Given the description of an element on the screen output the (x, y) to click on. 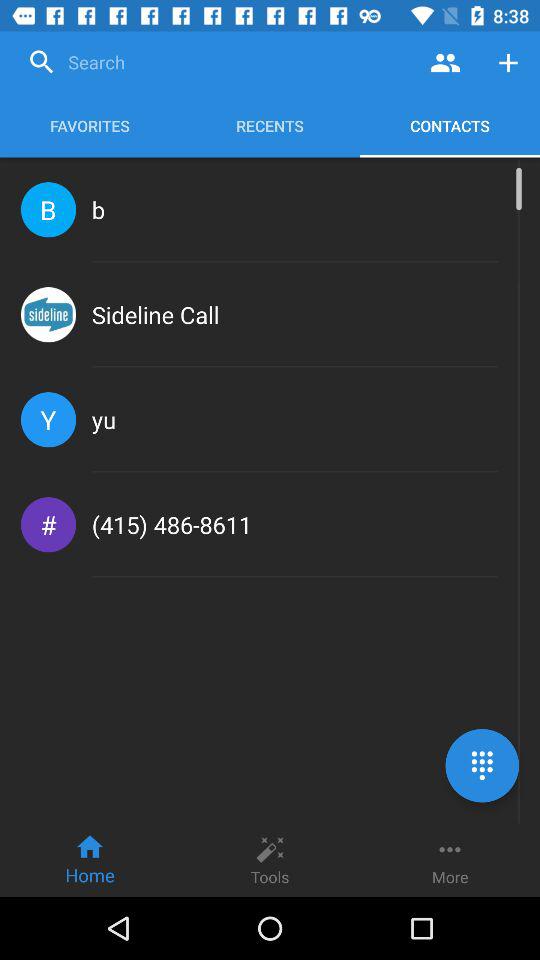
turn off sideline call item (155, 314)
